Given the description of an element on the screen output the (x, y) to click on. 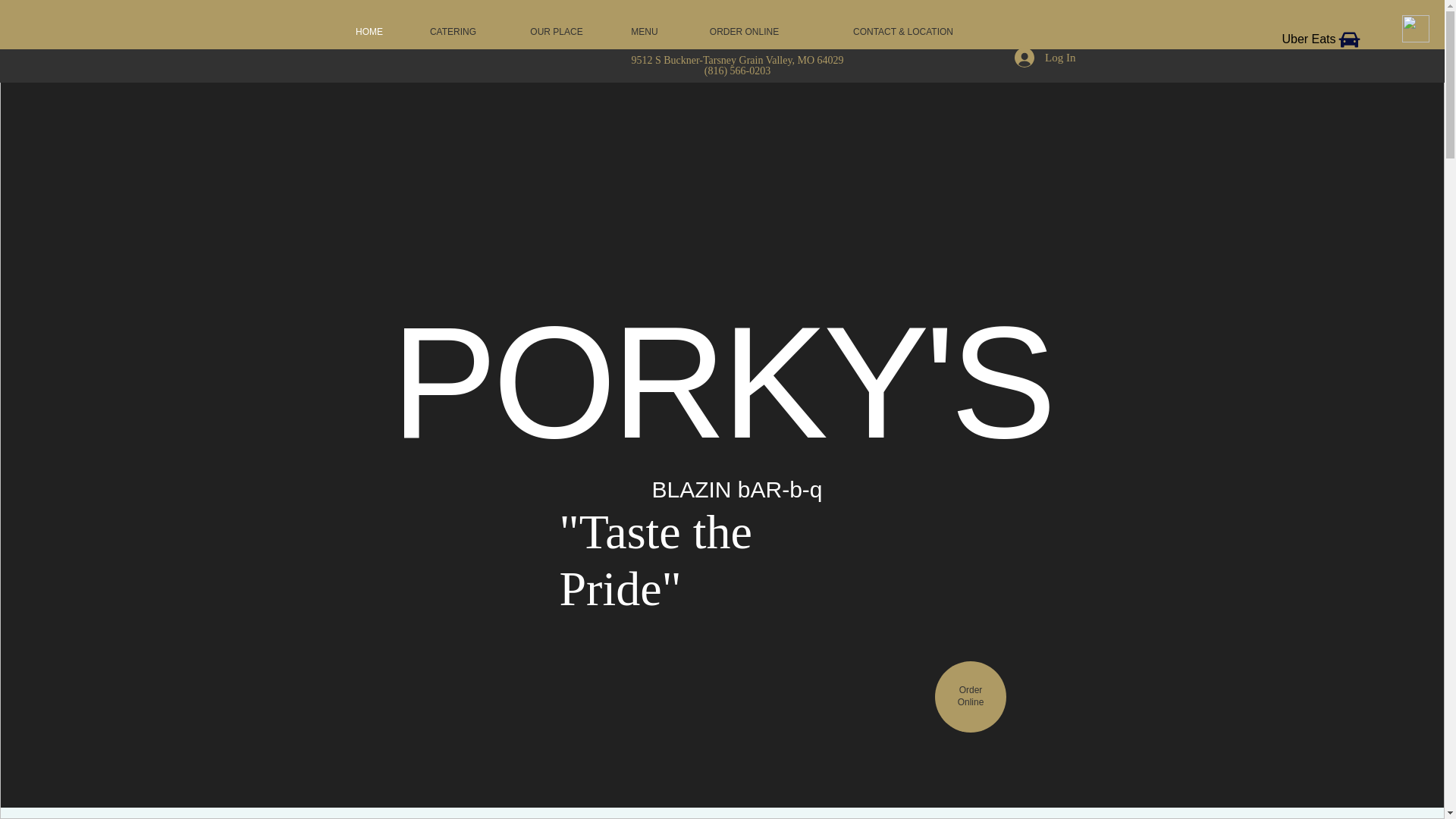
HOME (369, 31)
MENU (971, 695)
ORDER ONLINE (644, 31)
CATERING (743, 31)
Uber Eats (452, 31)
OUR PLACE (1321, 39)
Log In (556, 31)
